Given the description of an element on the screen output the (x, y) to click on. 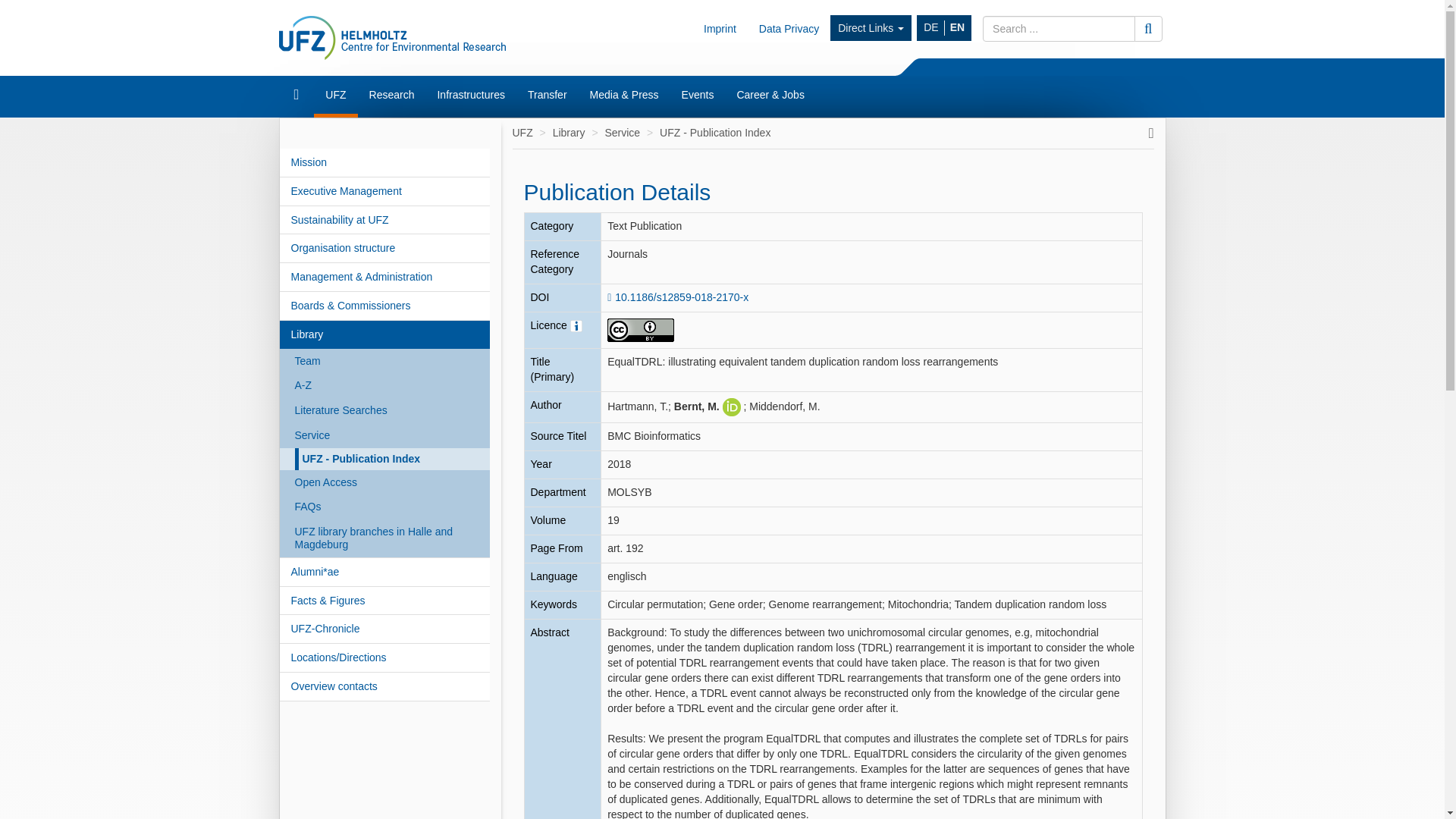
search term (1058, 28)
Imprint (720, 28)
Data Privacy (788, 28)
EN (956, 28)
DE (930, 28)
Direct Links (870, 27)
